Given the description of an element on the screen output the (x, y) to click on. 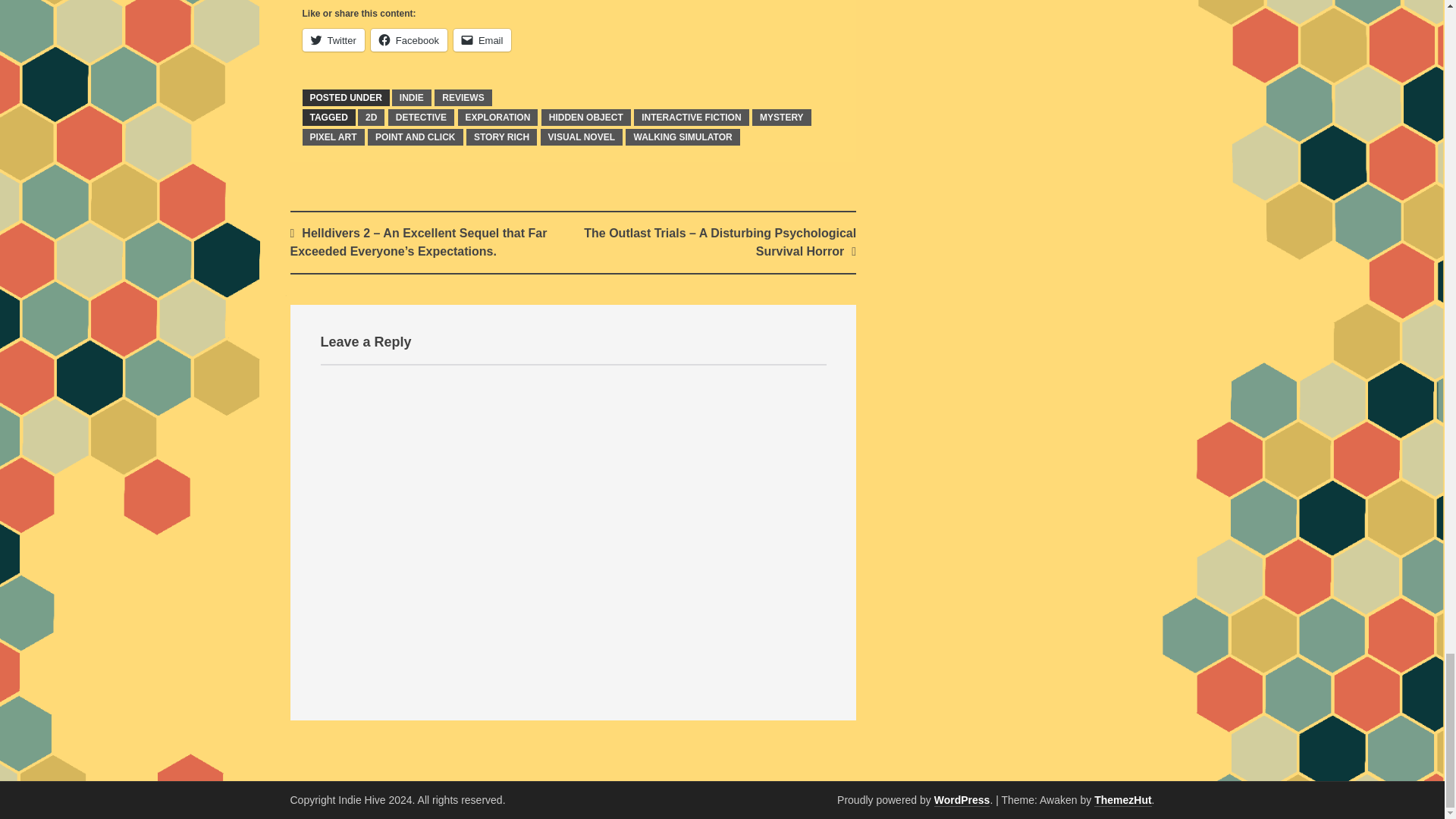
Click to share on Facebook (408, 39)
Twitter (332, 39)
Facebook (408, 39)
Click to email a link to a friend (482, 39)
Email (482, 39)
WordPress (962, 799)
Click to share on Twitter (332, 39)
